Given the description of an element on the screen output the (x, y) to click on. 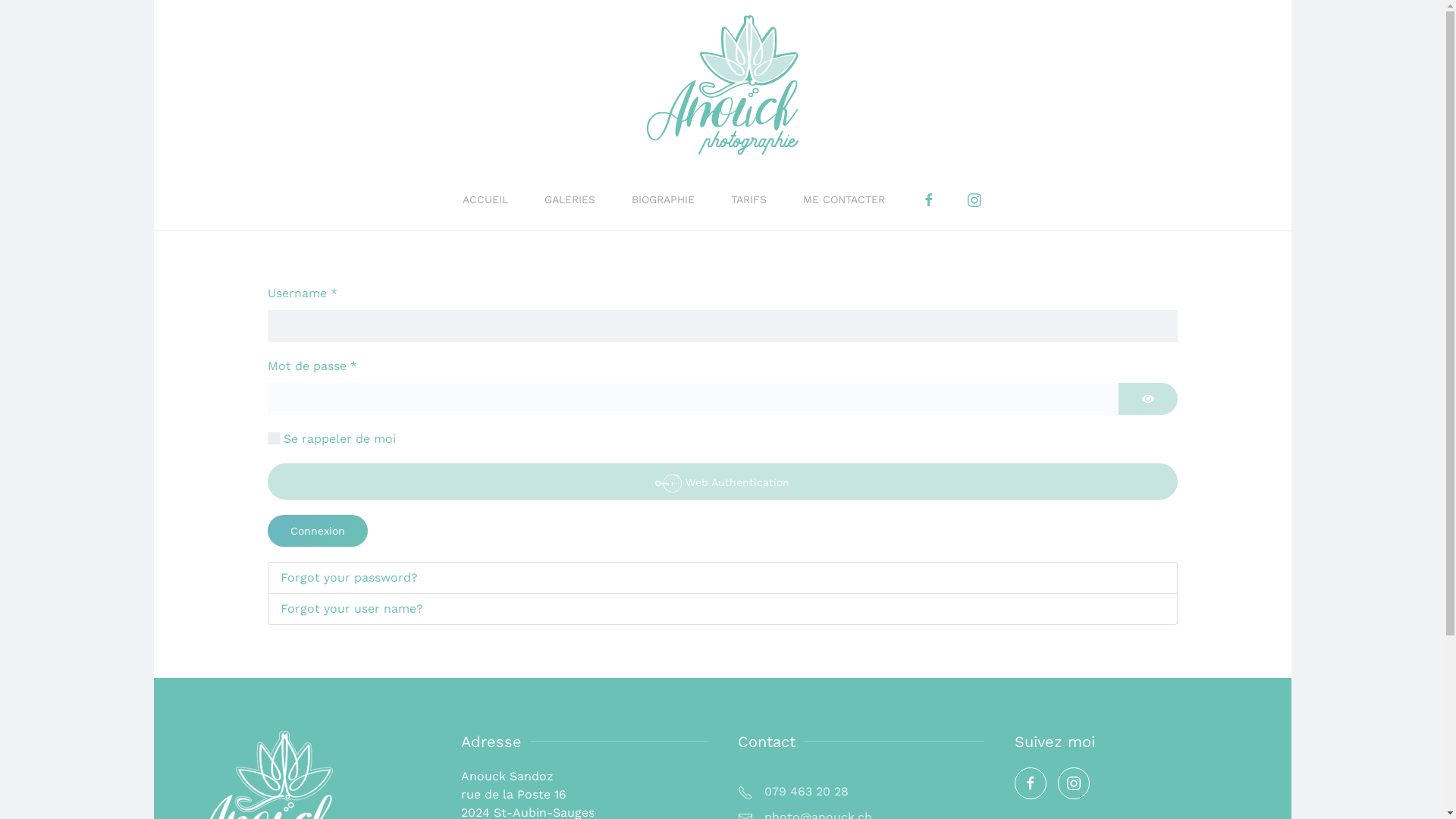
TARIFS Element type: text (748, 199)
ME CONTACTER Element type: text (843, 199)
079 463 20 28 Element type: text (860, 791)
Web Authentication Element type: text (721, 481)
Show Password Element type: text (1147, 398)
Forgot your user name? Element type: text (721, 608)
ACCUEIL Element type: text (485, 199)
Connexion Element type: text (316, 530)
GALERIES Element type: text (569, 199)
BIOGRAPHIE Element type: text (662, 199)
Forgot your password? Element type: text (721, 577)
